Given the description of an element on the screen output the (x, y) to click on. 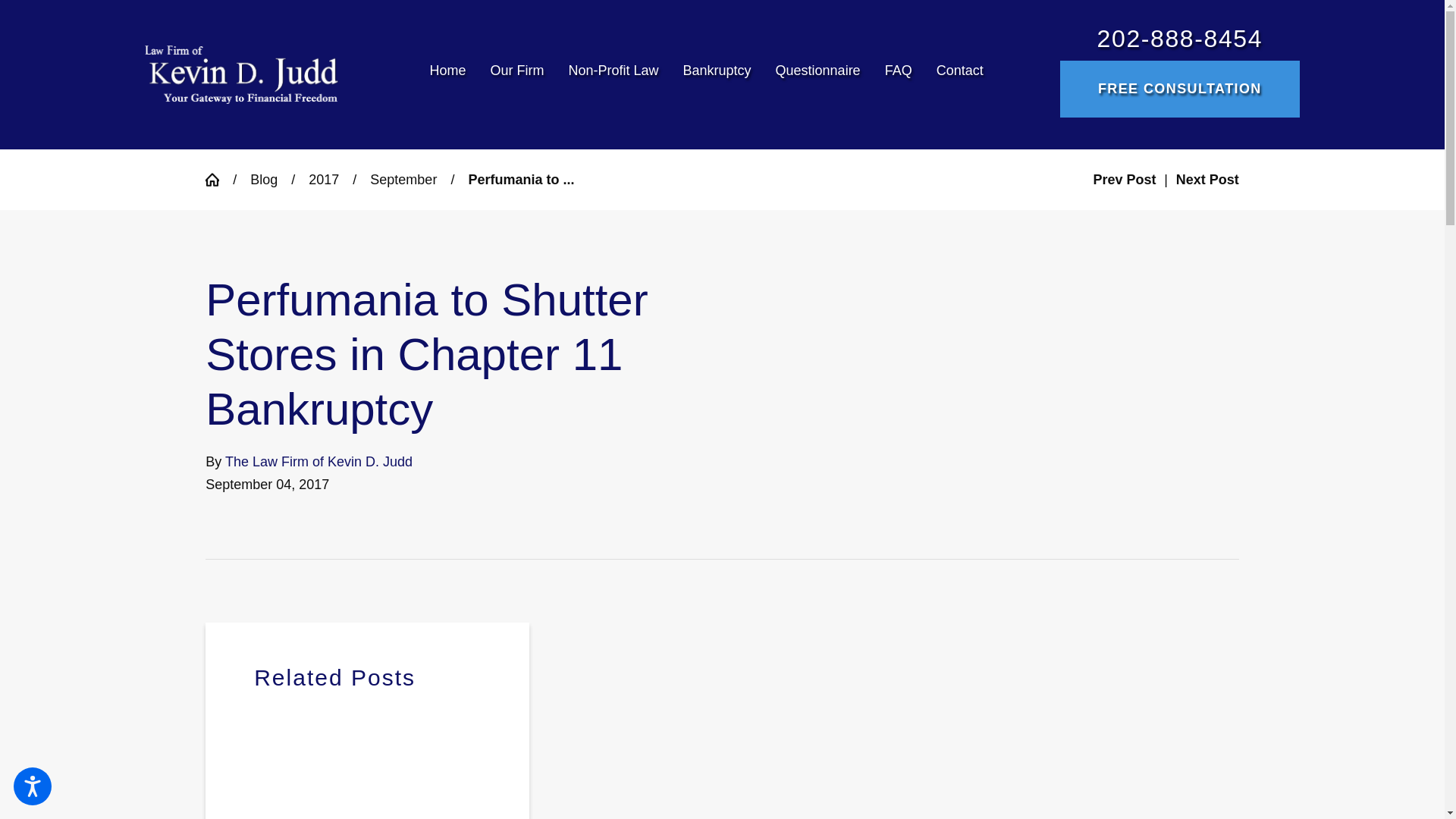
Open the accessibility options menu (31, 786)
Questionnaire (817, 74)
Go Home (218, 179)
Contact (954, 74)
Non-Profit Law (612, 74)
202-888-8454 (1179, 38)
September (402, 179)
Our Firm (516, 74)
Law Firm of Kevin D. Judd (241, 74)
FAQ (898, 74)
